Given the description of an element on the screen output the (x, y) to click on. 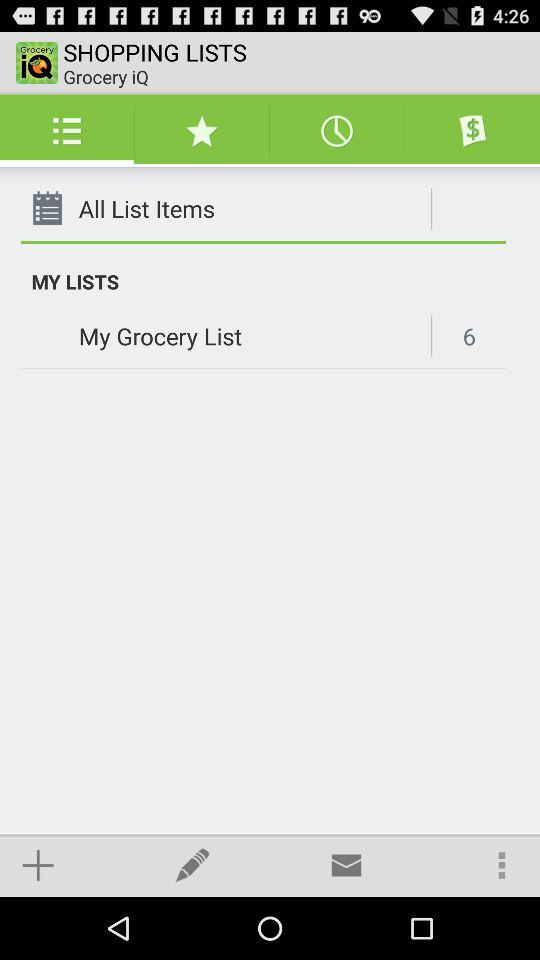
tap the icon below my grocery list app (192, 864)
